Given the description of an element on the screen output the (x, y) to click on. 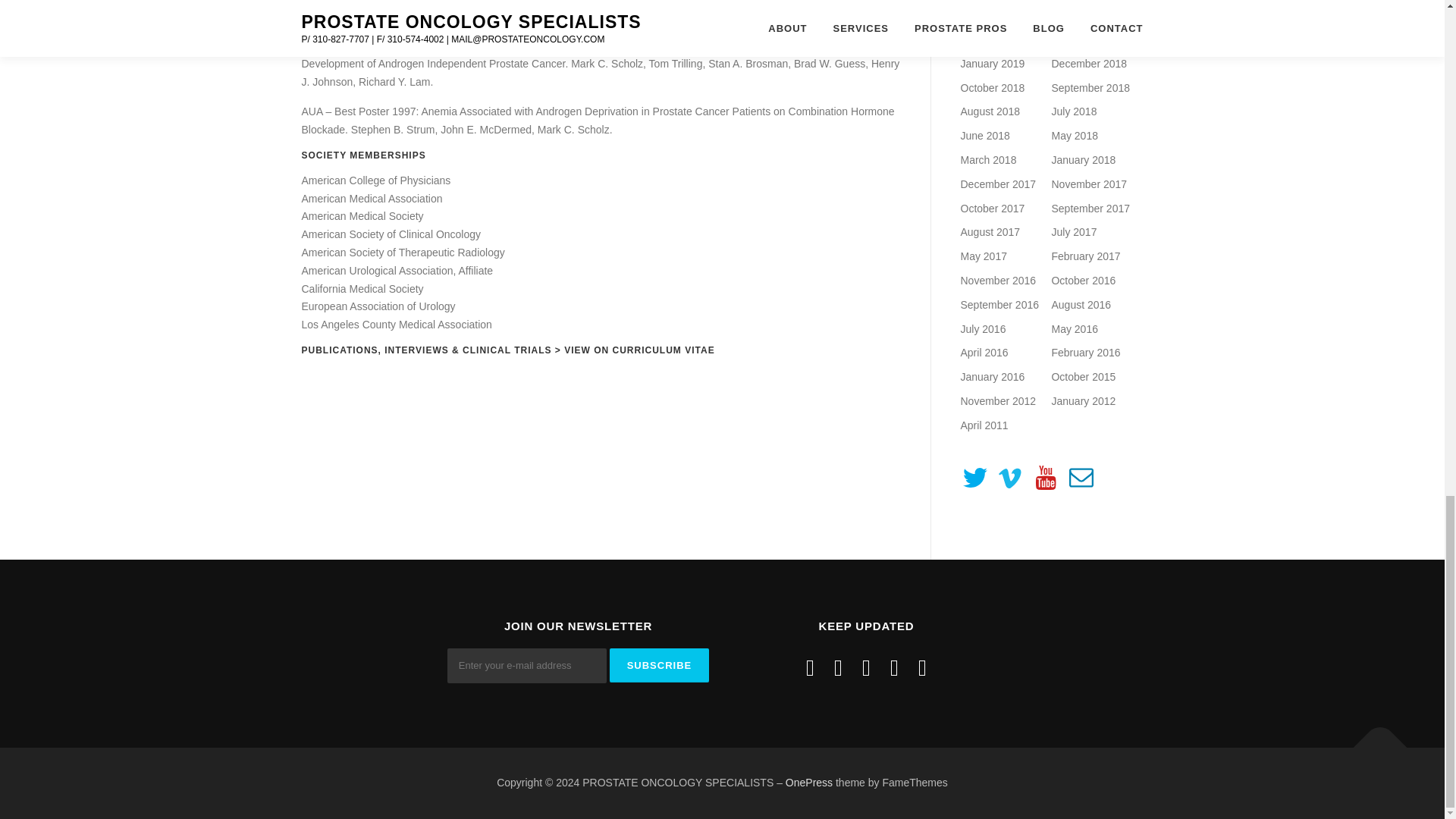
VIEW ON CURRICULUM VITAE (639, 349)
Back To Top (1372, 740)
Subscribe (660, 665)
